Given the description of an element on the screen output the (x, y) to click on. 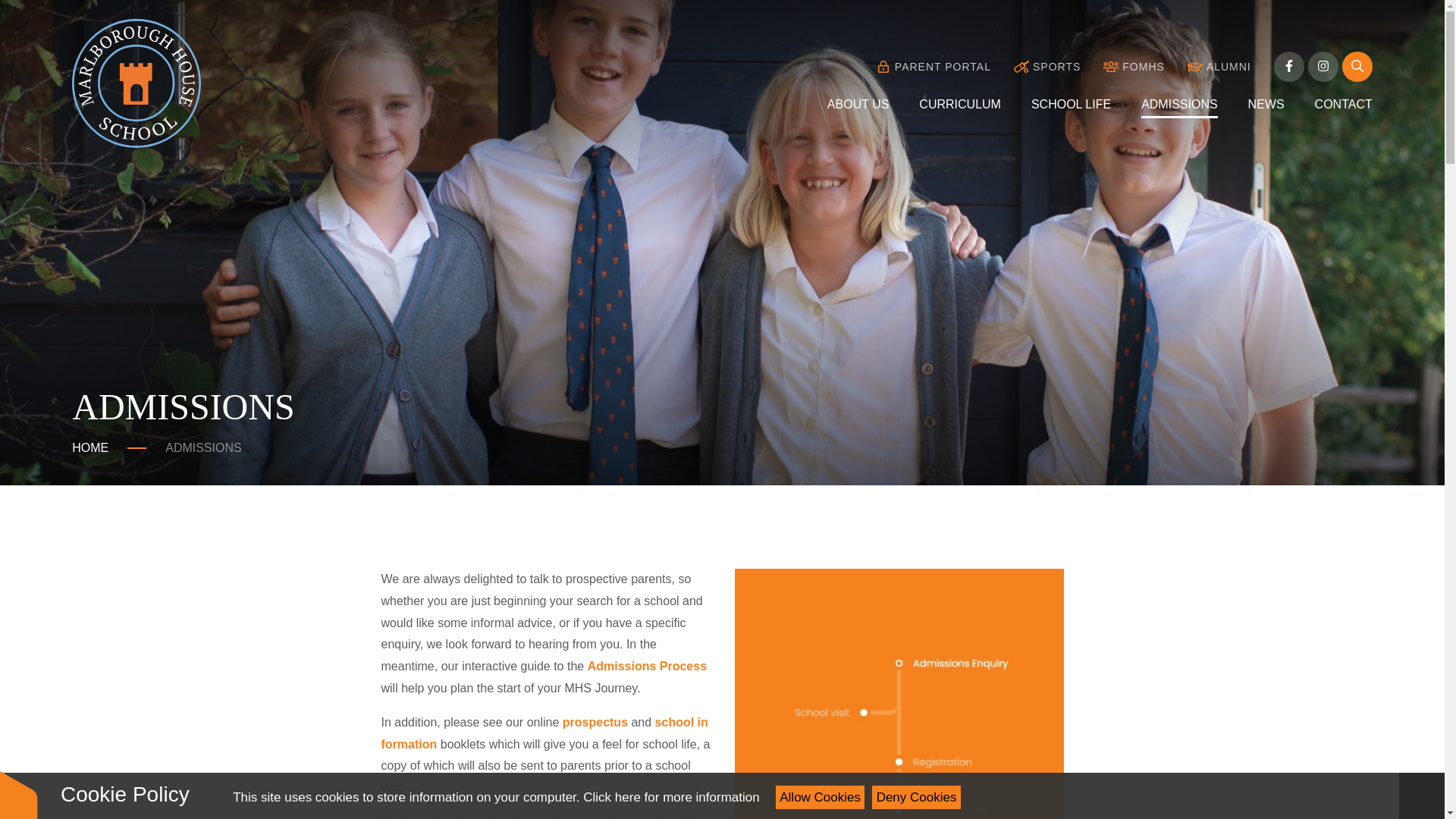
CURRICULUM (959, 103)
Allow Cookies (820, 797)
Instagram (1322, 66)
Search (1357, 66)
ABOUT US (858, 103)
Facebook (1289, 66)
See cookie policy (670, 797)
Deny Cookies (915, 797)
